Given the description of an element on the screen output the (x, y) to click on. 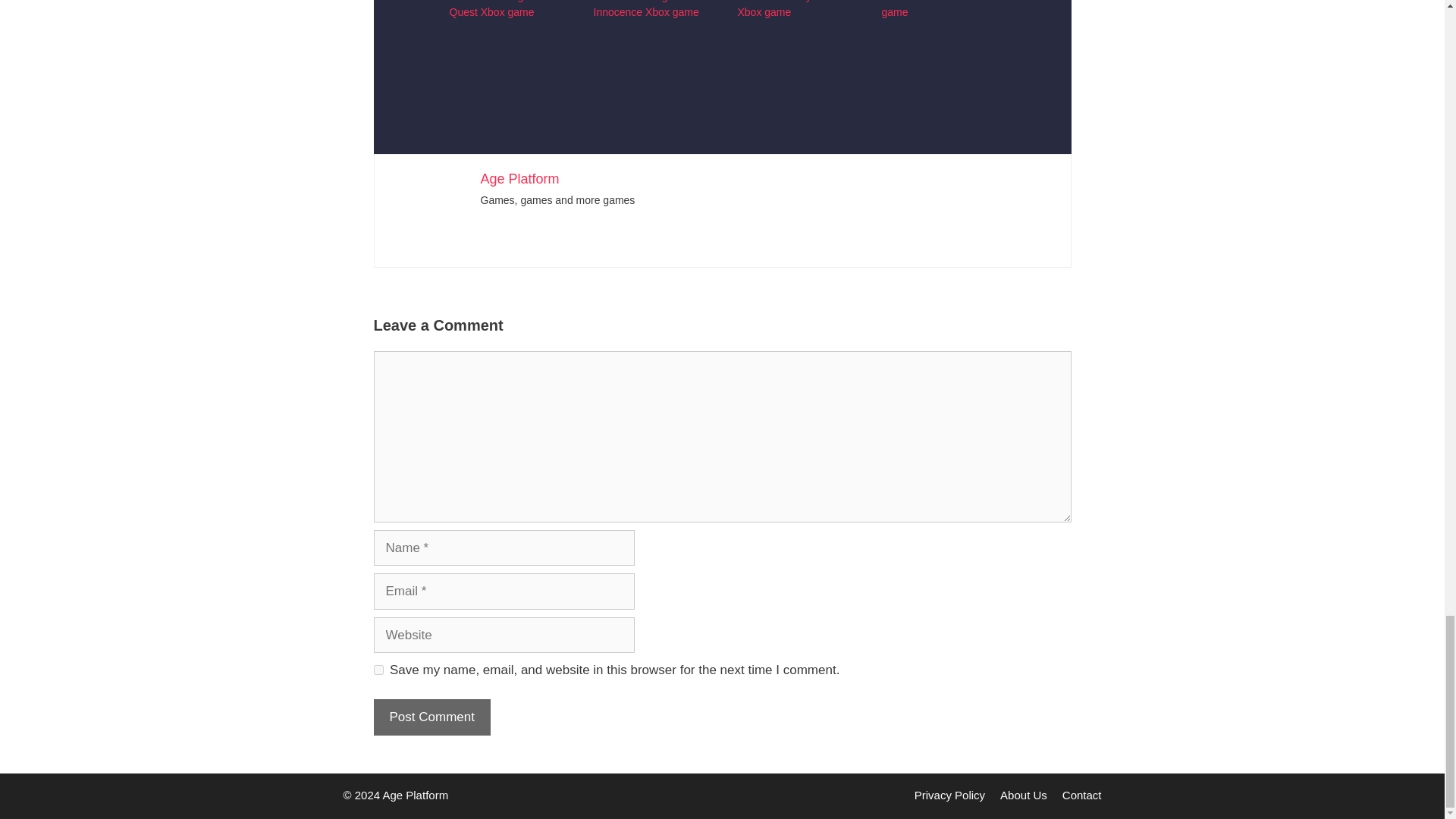
All about 7 Days to Die Xbox game (649, 37)
Contact (1082, 794)
Privacy Policy (949, 794)
All about Aaero Xbox game (929, 9)
All about A KING'S TALE: FINAL FANTASY XV Xbox game (937, 37)
All about A Boy and His Blob Xbox game (793, 37)
All about 3on3 FreeStyle Xbox game (505, 37)
All about A Plague Tale: Innocence Xbox game (648, 9)
About Us (1023, 794)
Age Platform (519, 178)
